Given the description of an element on the screen output the (x, y) to click on. 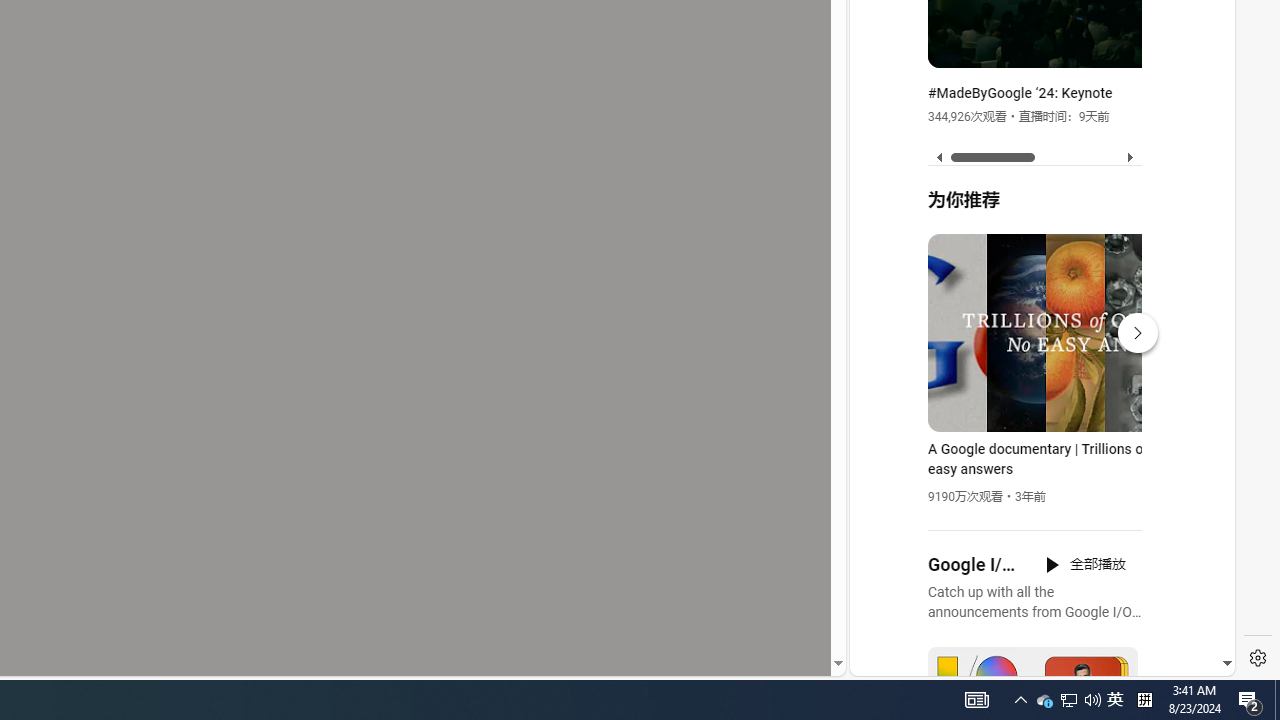
Class: dict_pnIcon rms_img (1028, 660)
#you (1034, 439)
Click to scroll right (1196, 83)
Actions for this site (1131, 443)
you (1034, 609)
YouTube - YouTube (1034, 266)
